Given the description of an element on the screen output the (x, y) to click on. 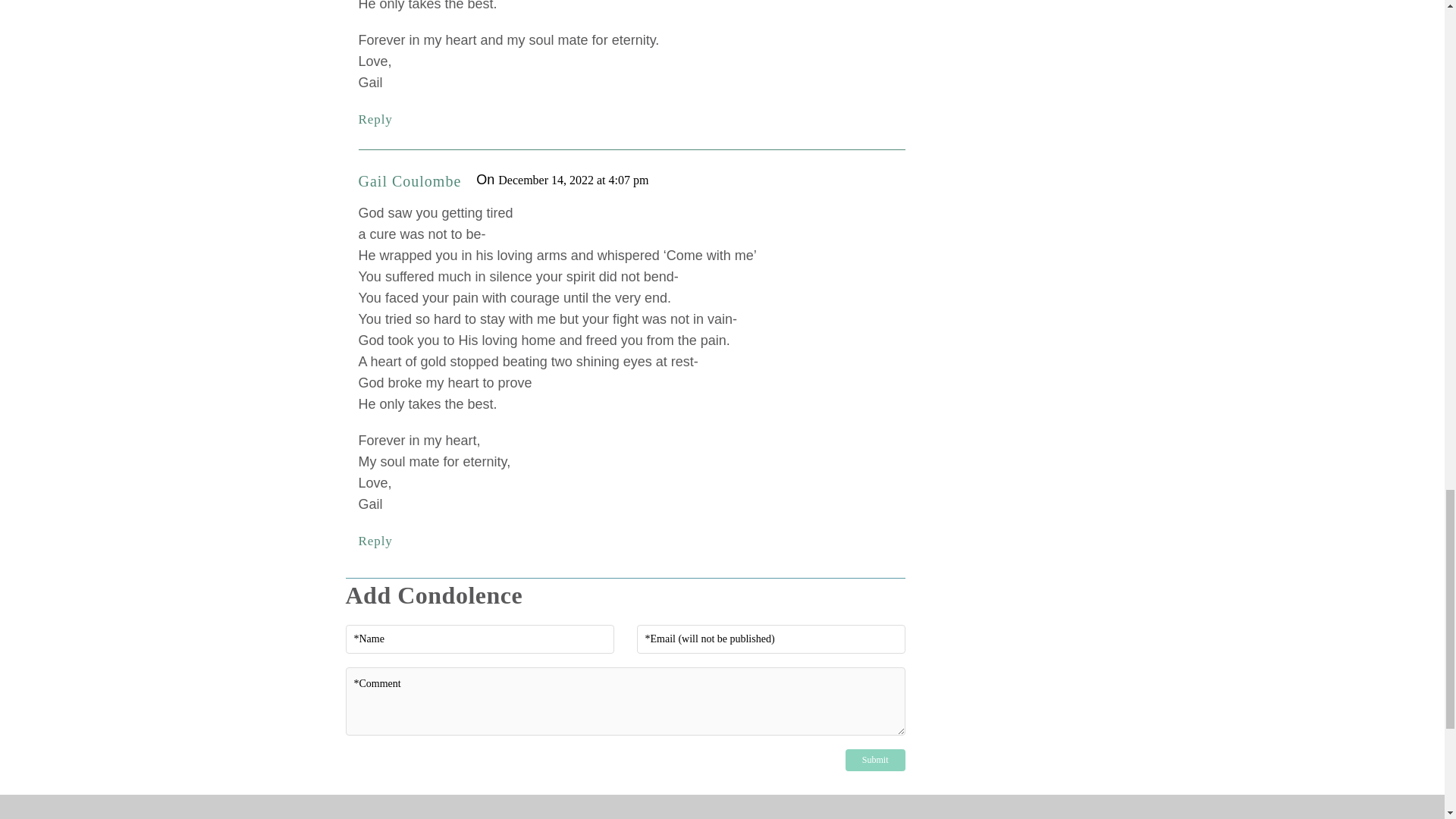
Reply (374, 119)
December 14, 2022 at 4:07 pm (572, 179)
